Given the description of an element on the screen output the (x, y) to click on. 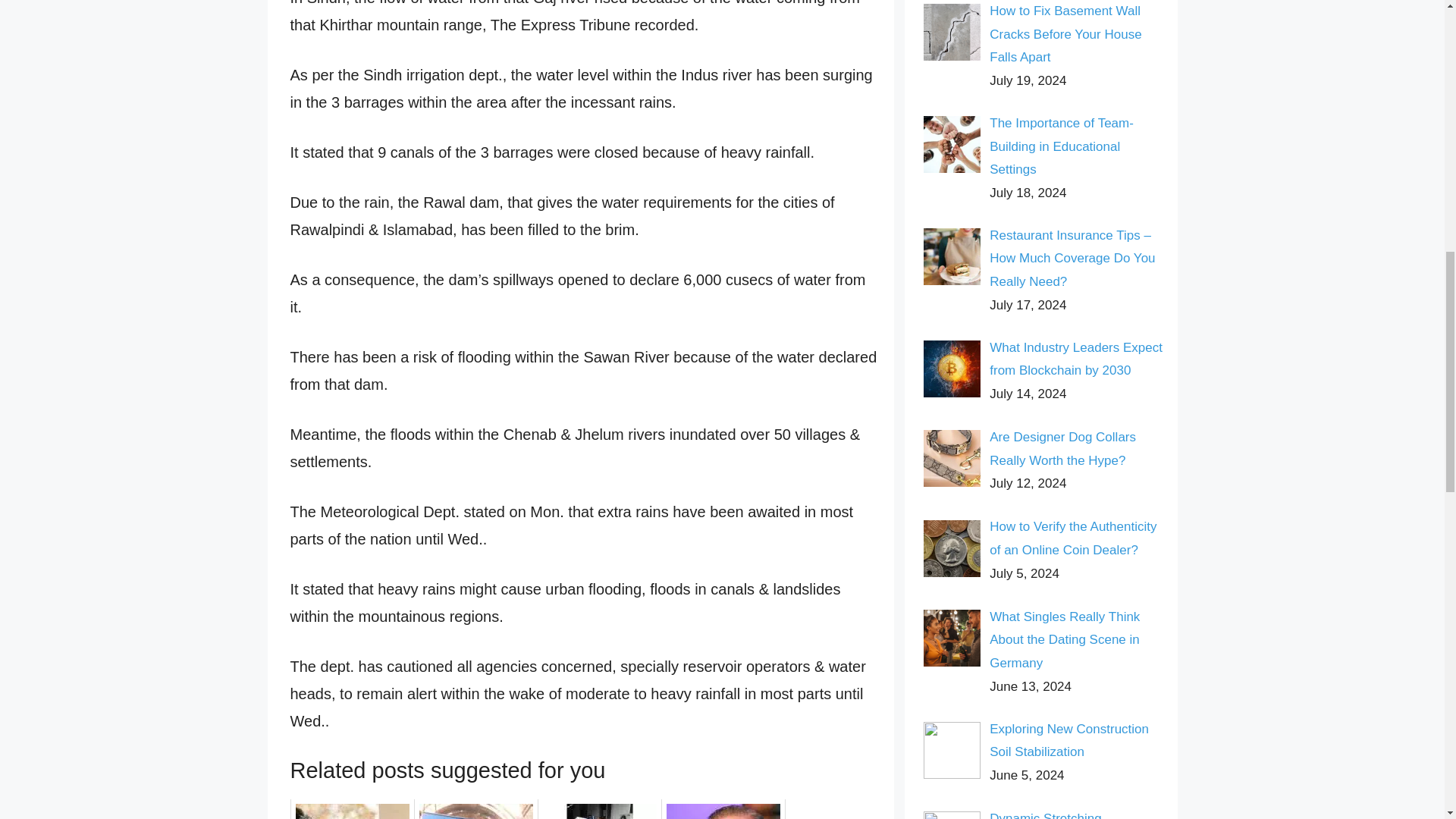
Dynamic Stretching Explained: Best Practices Before Exercise (1062, 815)
Exploring New Construction Soil Stabilization (1069, 740)
The Importance of Team-Building in Educational Settings (1062, 146)
What Industry Leaders Expect from Blockchain by 2030 (1075, 359)
Scroll back to top (1406, 720)
Are Designer Dog Collars Really Worth the Hype? (1062, 448)
What Singles Really Think About the Dating Scene in Germany (1065, 639)
